Given the description of an element on the screen output the (x, y) to click on. 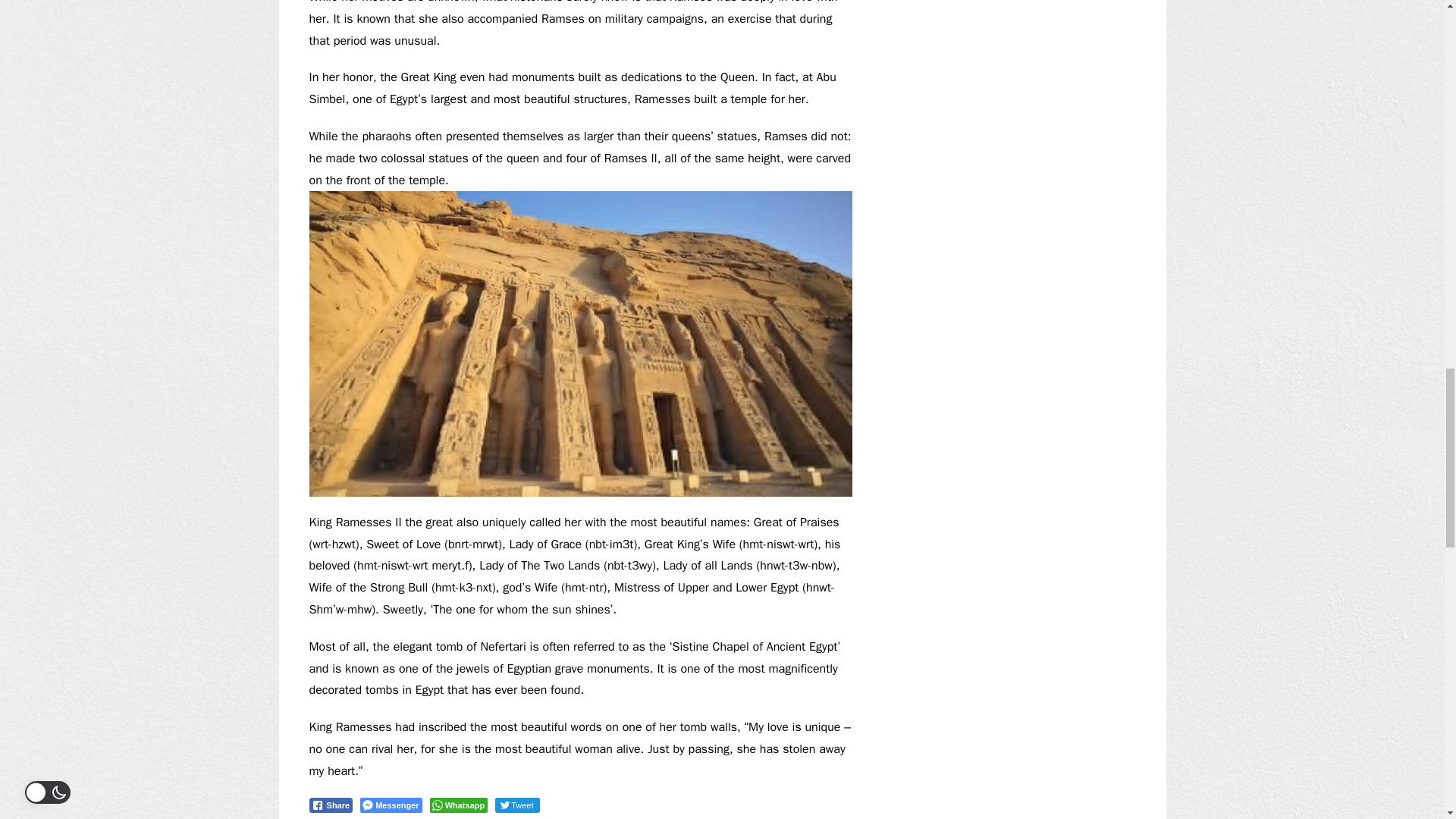
Messenger (390, 805)
Tweet (516, 805)
Whatsapp (458, 805)
Share (330, 805)
